Given the description of an element on the screen output the (x, y) to click on. 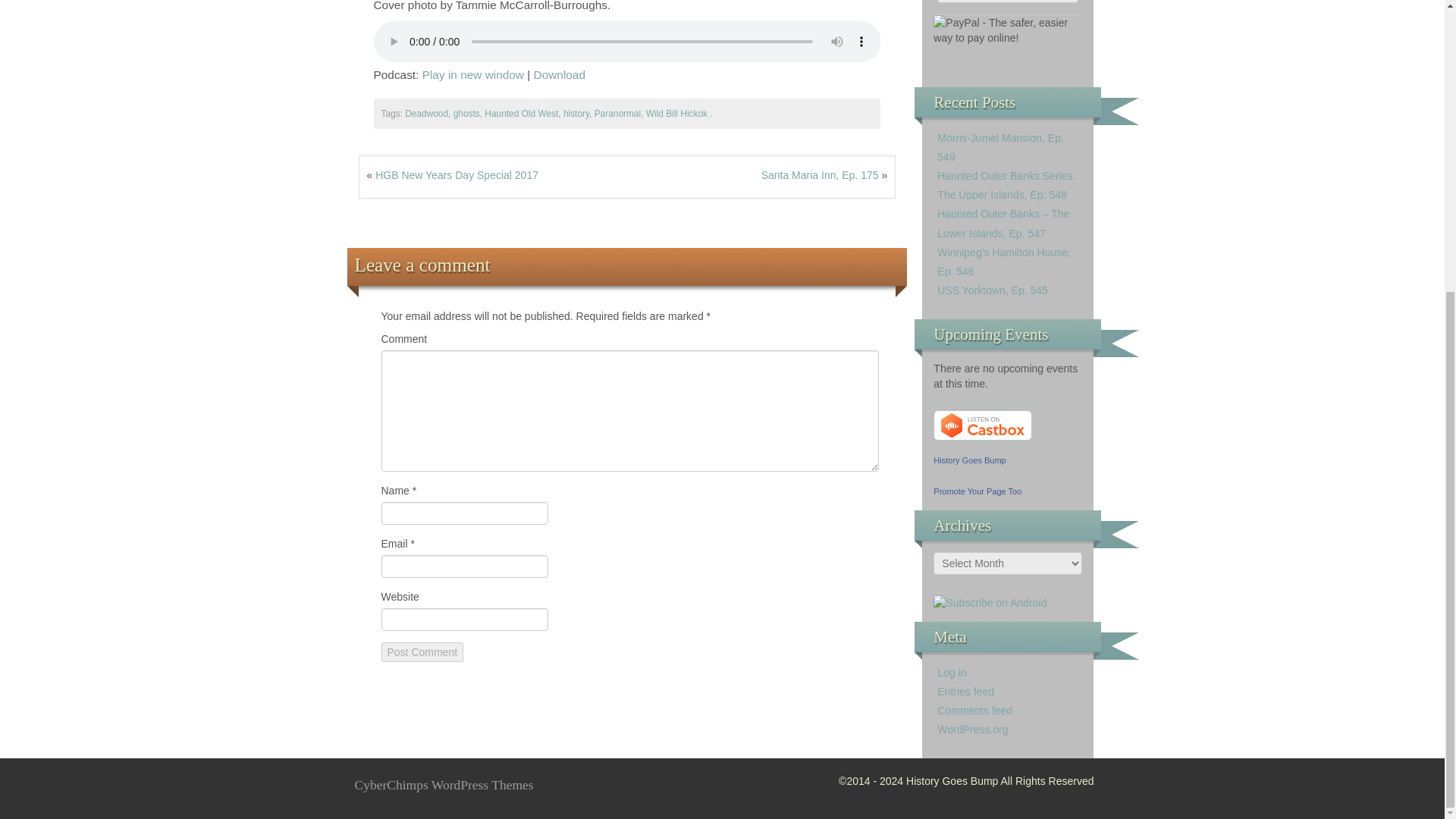
Santa Maria Inn, Ep. 175 (820, 174)
Haunted Old West (520, 113)
Morris-Jumel Mansion, Ep. 549 (1000, 146)
Play in new window (473, 74)
Post Comment (421, 651)
Download (559, 74)
Post Comment (421, 651)
history (576, 113)
USS Yorktown, Ep. 545 (992, 290)
Paranormal (617, 113)
Download (559, 74)
Play in new window (473, 74)
Deadwood (426, 113)
Wild Bill Hickok (676, 113)
History Goes Bump (969, 460)
